Given the description of an element on the screen output the (x, y) to click on. 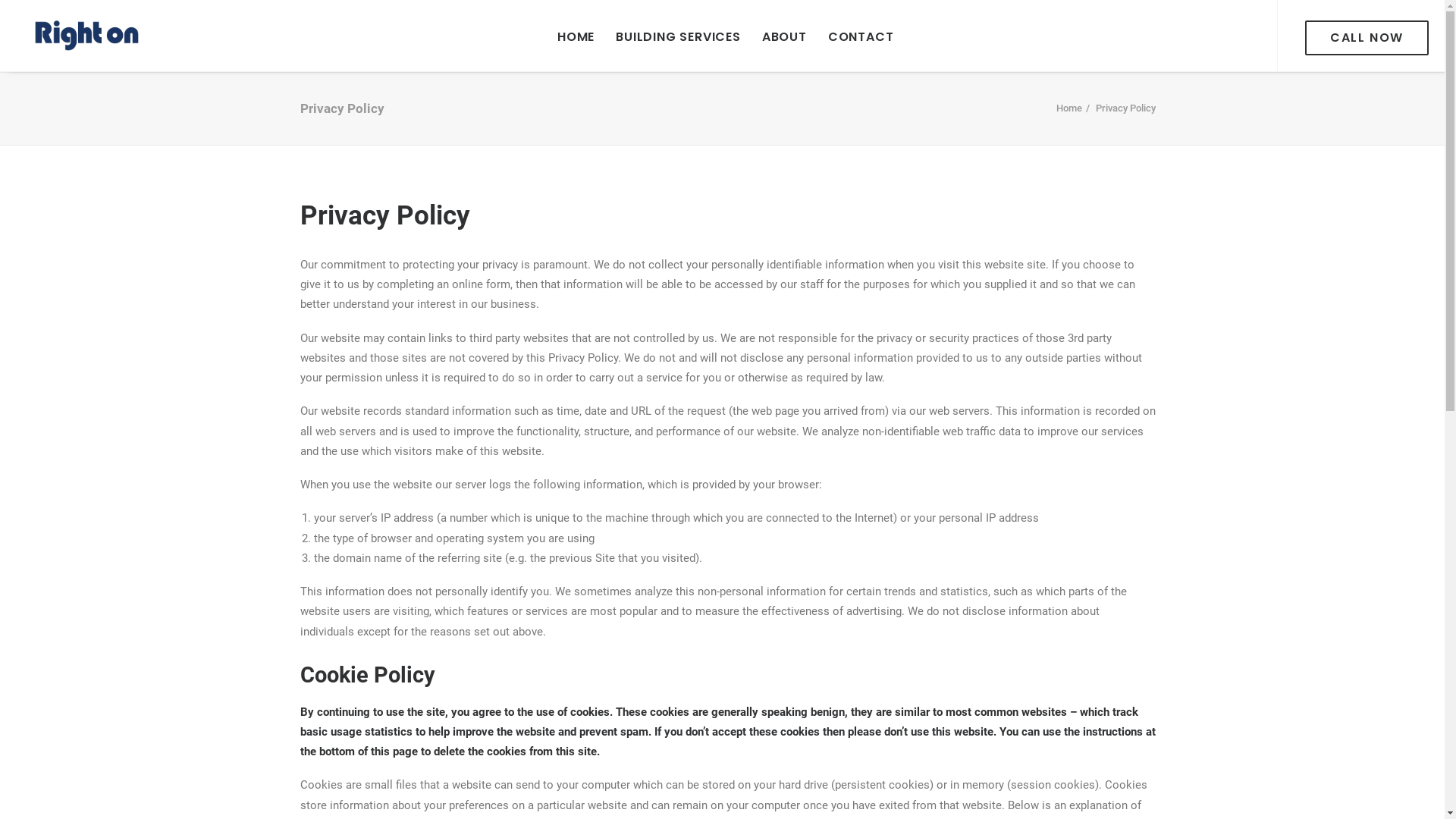
CALL NOW Element type: text (1366, 36)
BUILDING SERVICES Element type: text (678, 35)
HOME Element type: text (575, 35)
CONTACT Element type: text (860, 35)
Home Element type: text (1069, 107)
ABOUT Element type: text (784, 35)
